Given the description of an element on the screen output the (x, y) to click on. 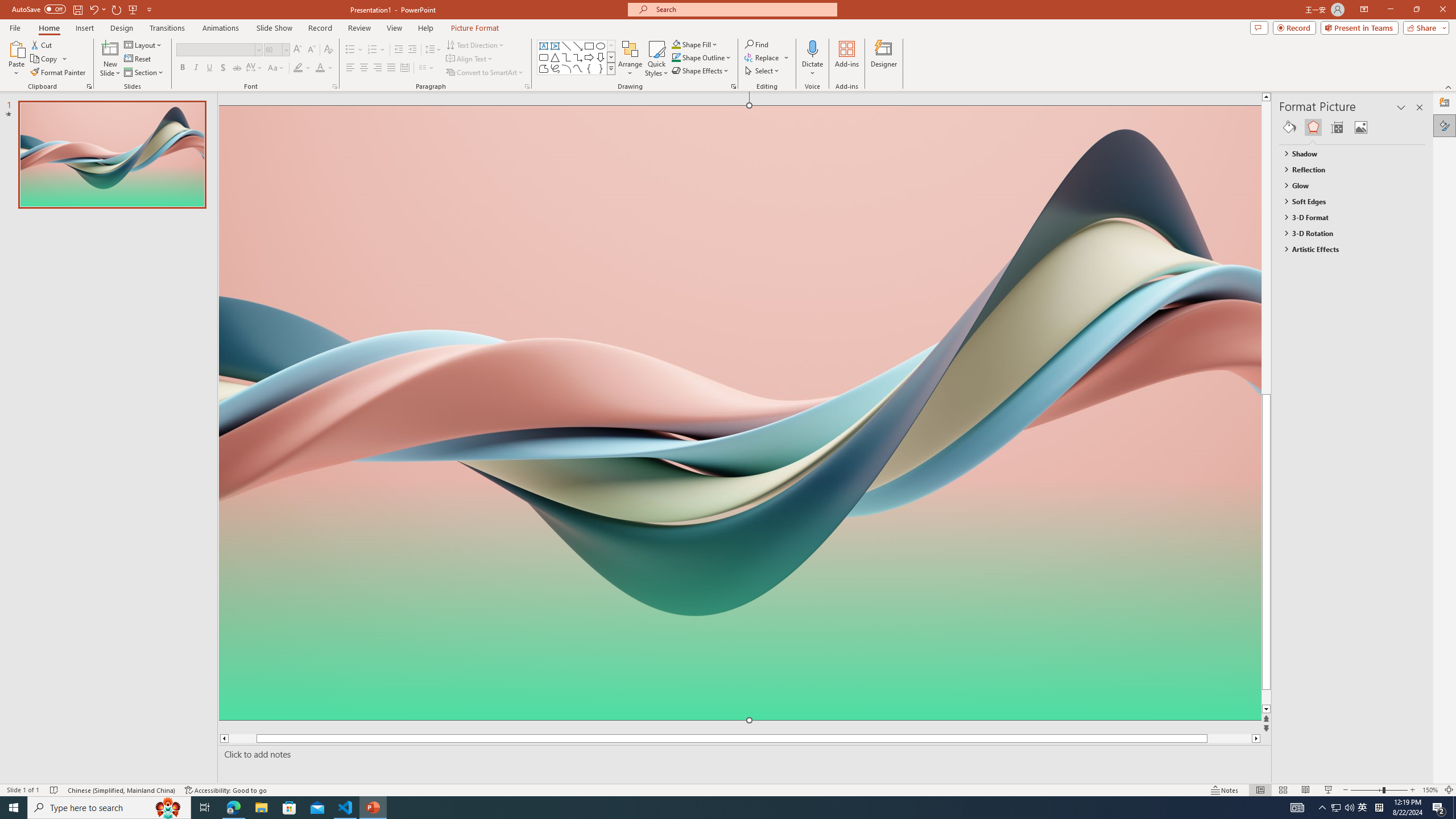
Format Picture (1444, 125)
